Given the description of an element on the screen output the (x, y) to click on. 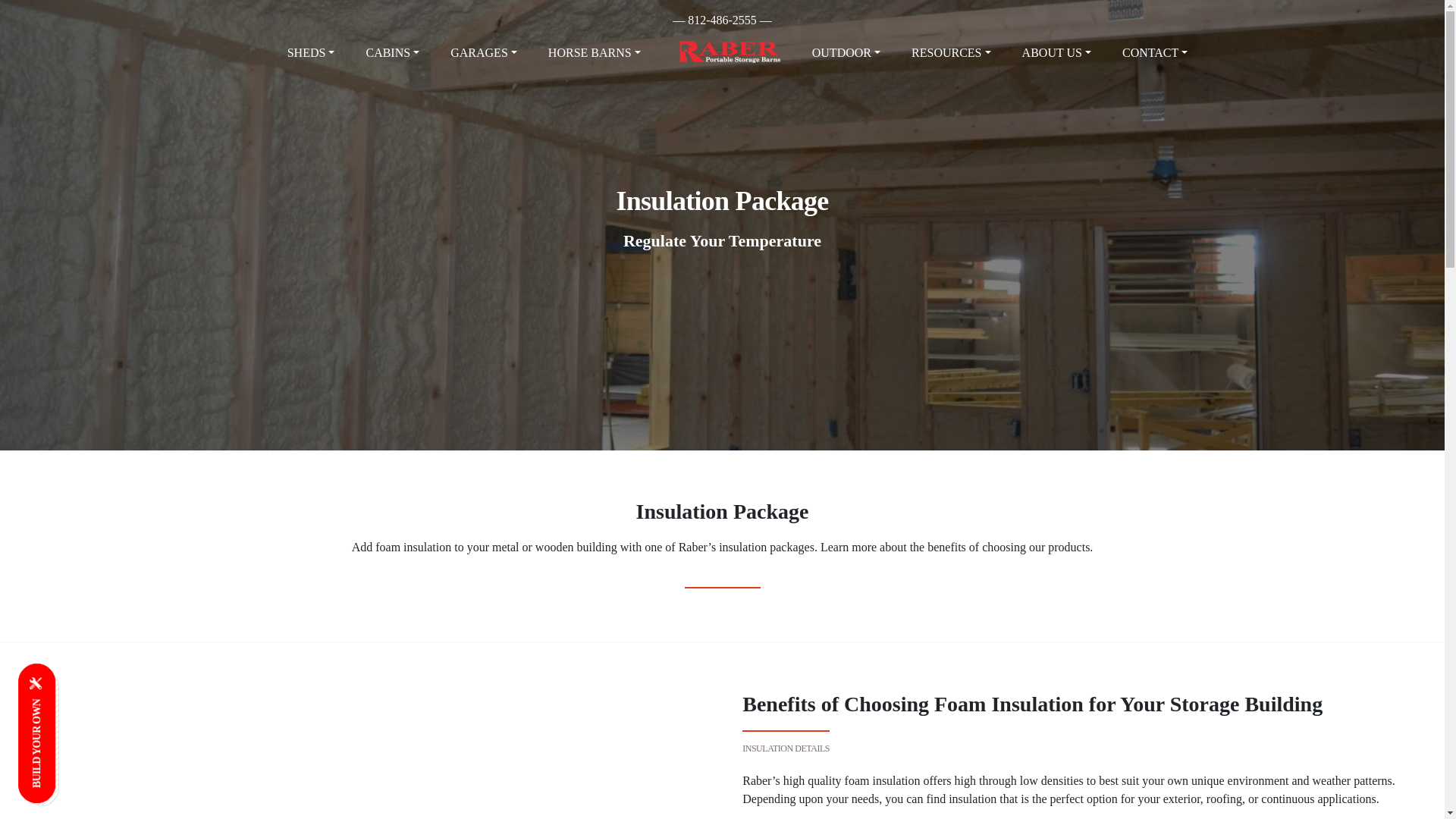
CABINS (392, 52)
HORSE BARNS (593, 52)
GARAGES (483, 52)
YouTube video player (355, 730)
RESOURCES (951, 52)
OUTDOOR (846, 52)
SHEDS (310, 52)
